Given the description of an element on the screen output the (x, y) to click on. 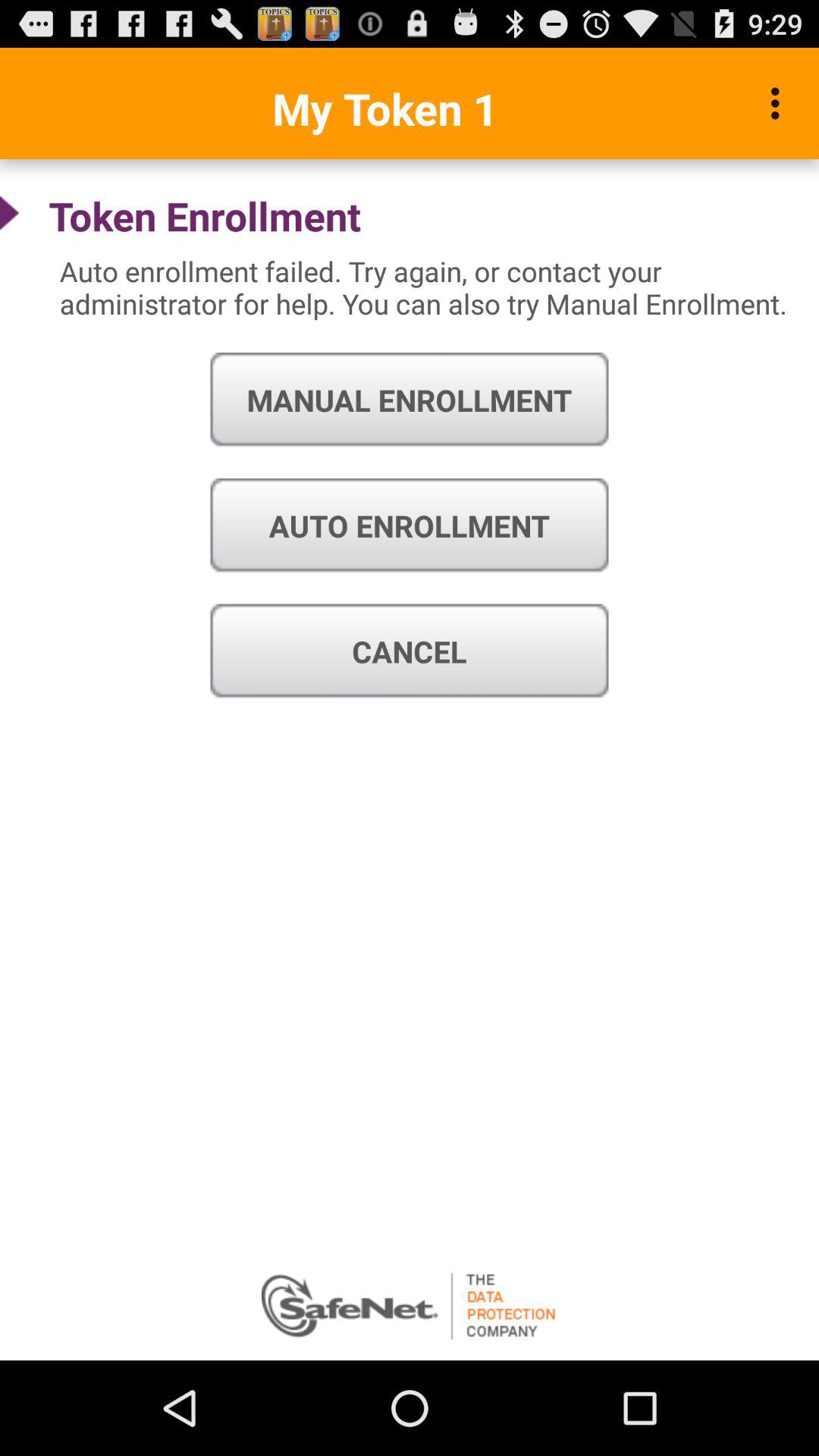
swipe to the cancel item (409, 651)
